Given the description of an element on the screen output the (x, y) to click on. 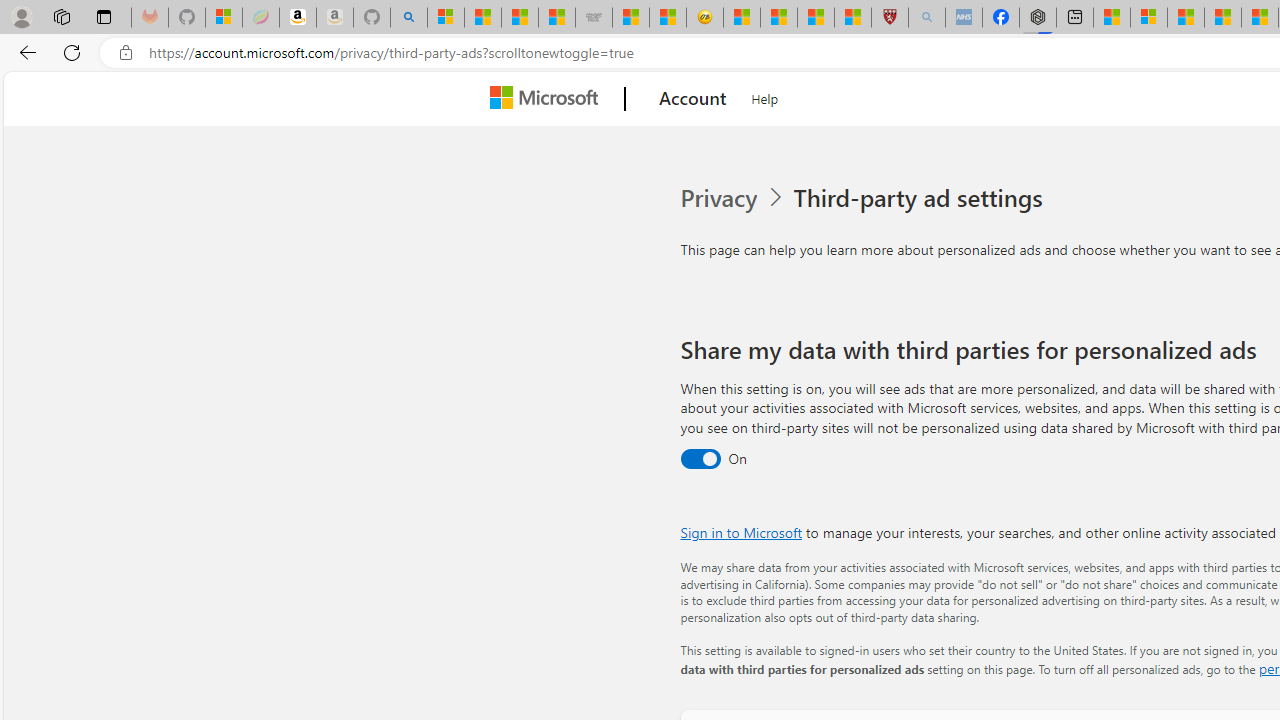
Sign in to Microsoft (740, 532)
Science - MSN (815, 17)
Third-party ad settings (922, 197)
